Given the description of an element on the screen output the (x, y) to click on. 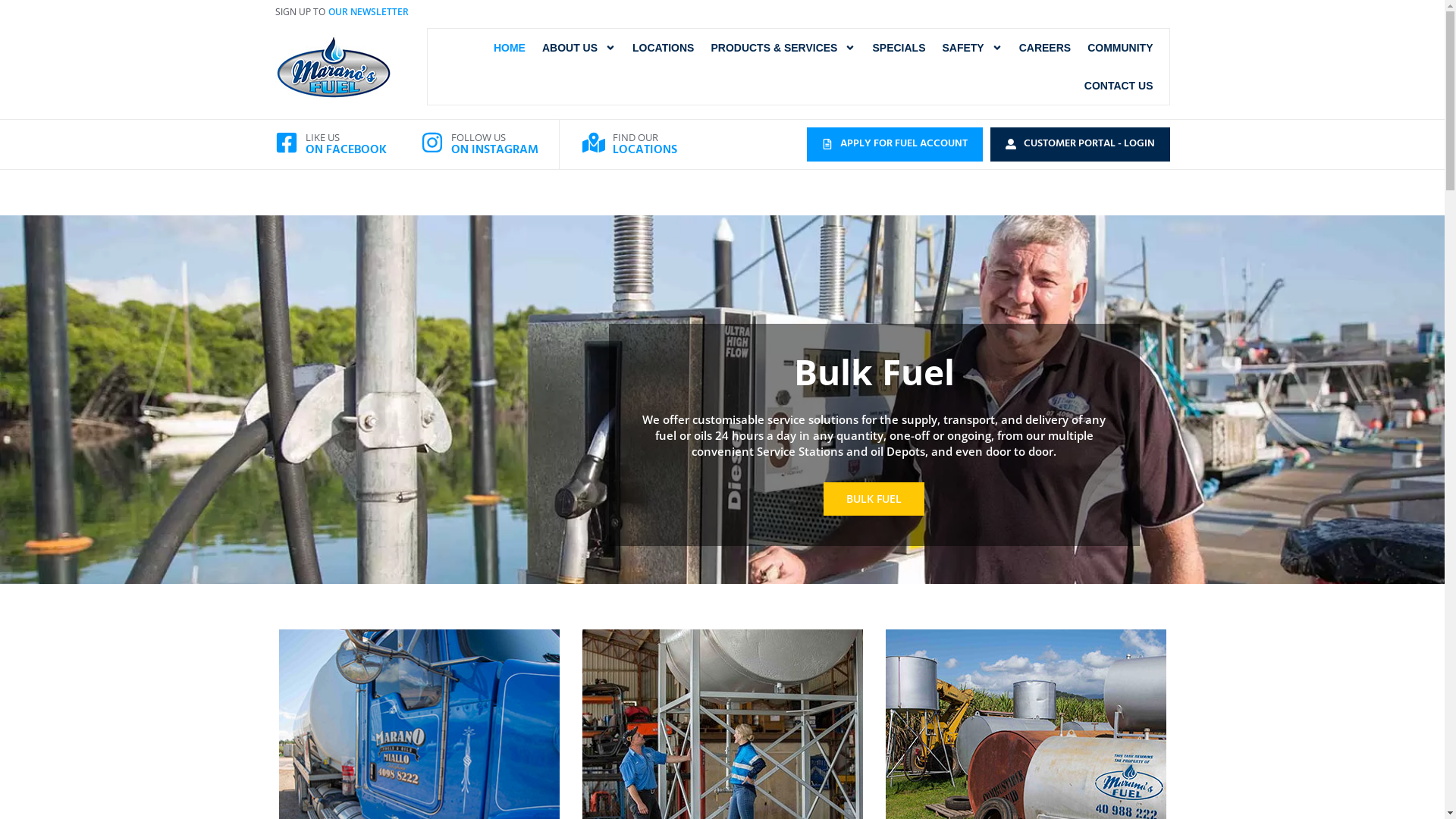
OUR NEWSLETTER Element type: text (367, 11)
LOCATIONS Element type: text (663, 47)
ABOUT US Element type: text (578, 47)
PRODUCTS & SERVICES Element type: text (782, 47)
FOLLOW US
ON INSTAGRAM Element type: text (493, 144)
LIKE US
ON FACEBOOK Element type: text (344, 144)
SAFETY Element type: text (971, 47)
APPLY FOR FUEL ACCOUNT Element type: text (894, 144)
CONTACT US Element type: text (1118, 85)
SPECIALS Element type: text (898, 47)
CUSTOMER PORTAL - LOGIN Element type: text (1080, 144)
COMMUNITY Element type: text (1120, 47)
CAREERS Element type: text (1044, 47)
FIND OUR
LOCATIONS Element type: text (644, 144)
HOME Element type: text (509, 47)
BULK FUEL Element type: text (873, 498)
